Given the description of an element on the screen output the (x, y) to click on. 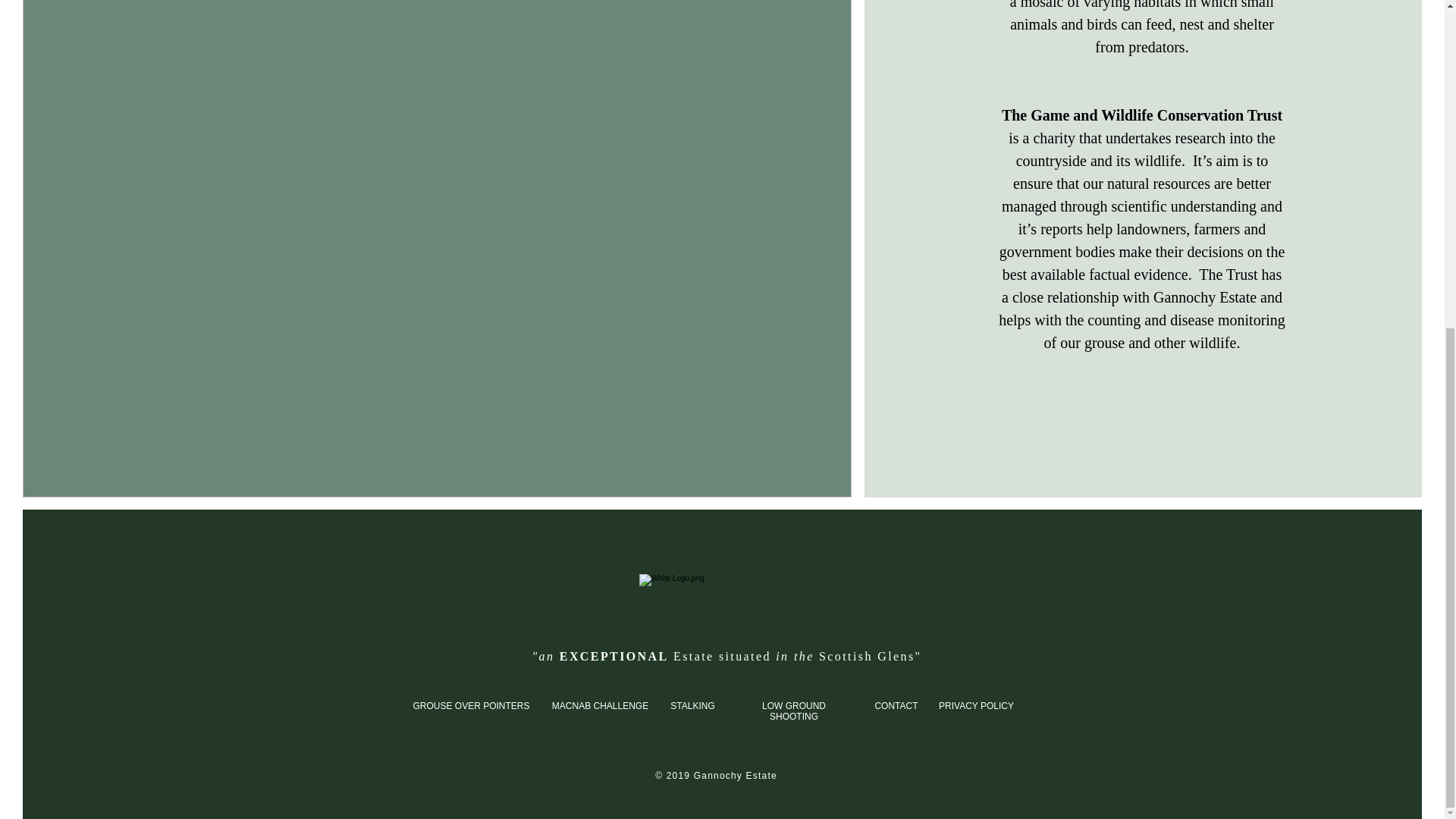
LOW GROUND SHOOTING (793, 711)
GROUSE OVER POINTERS (470, 706)
The Game and Wildlife Conservation Trust (1141, 115)
CONTACT (896, 706)
STALKING (691, 706)
MACNAB CHALLENGE (599, 706)
PRIVACY POLICY (976, 706)
